Given the description of an element on the screen output the (x, y) to click on. 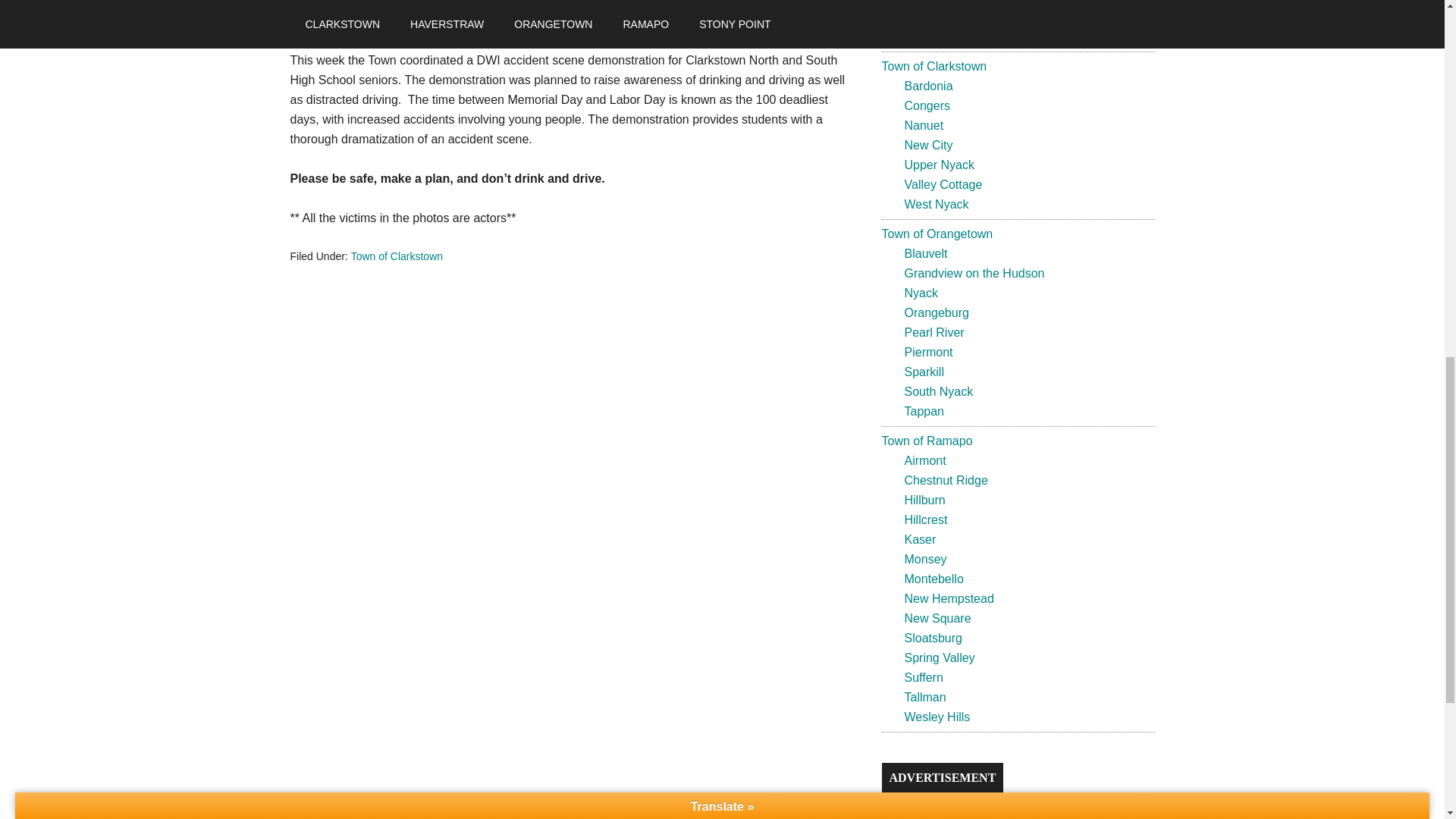
Nanuet (923, 124)
Upper Nyack (939, 164)
Bardonia (928, 85)
Town of Clarkstown (396, 256)
Congers (926, 105)
New City (928, 144)
Thiells (921, 2)
West Haverstraw (949, 36)
Town of Clarkstown (933, 65)
